Given the description of an element on the screen output the (x, y) to click on. 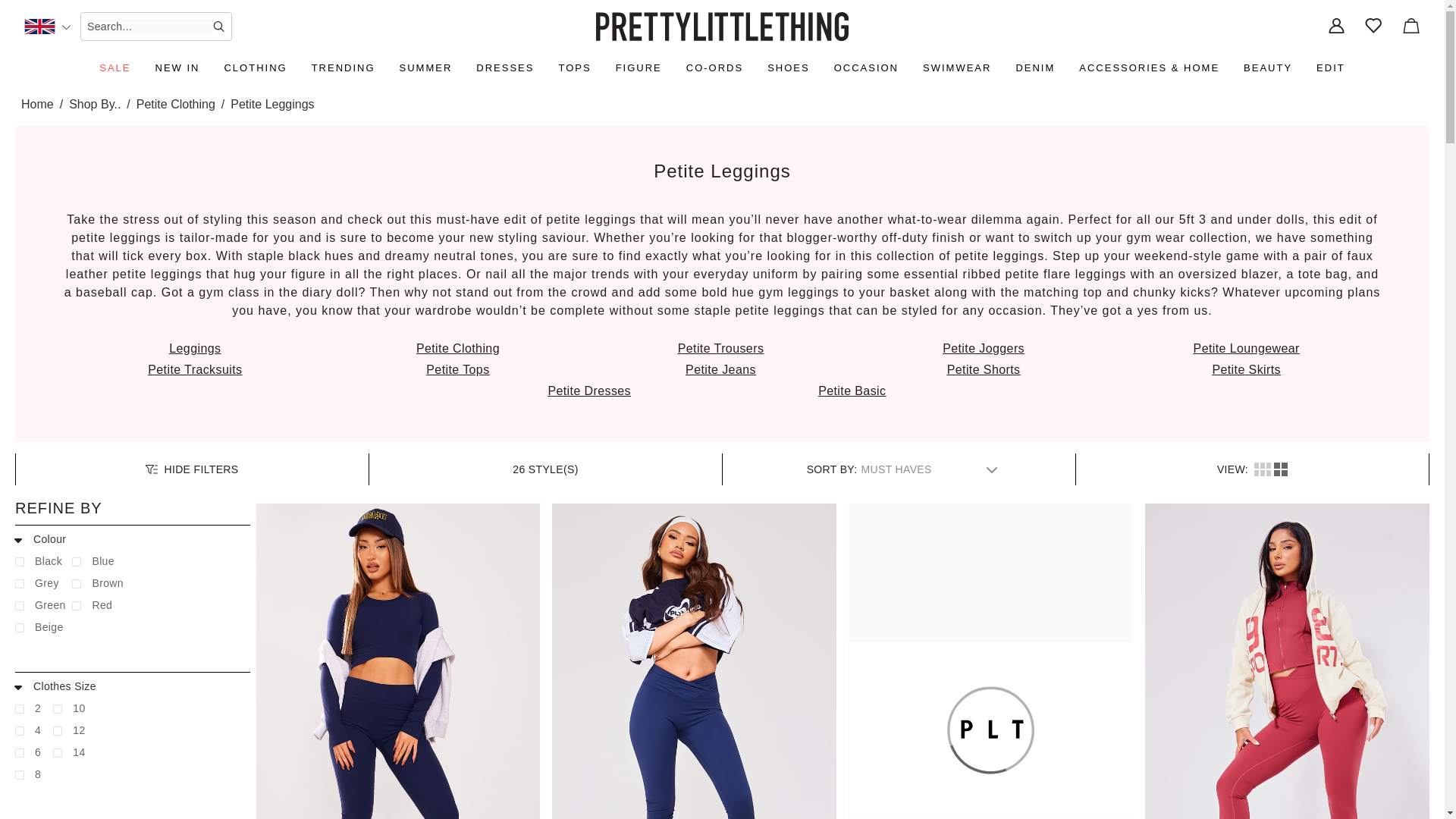
SUMMER (425, 68)
NEW IN (177, 68)
FIGURE (639, 68)
DENIM (1035, 68)
DRESSES (505, 68)
Cart (1410, 27)
CLOTHING (254, 68)
CO-ORDS (714, 68)
TOPS (573, 68)
EDIT (1330, 68)
SHOES (788, 68)
SALE (114, 68)
BEAUTY (1267, 68)
TRENDING (343, 68)
My Account (1335, 27)
